Given the description of an element on the screen output the (x, y) to click on. 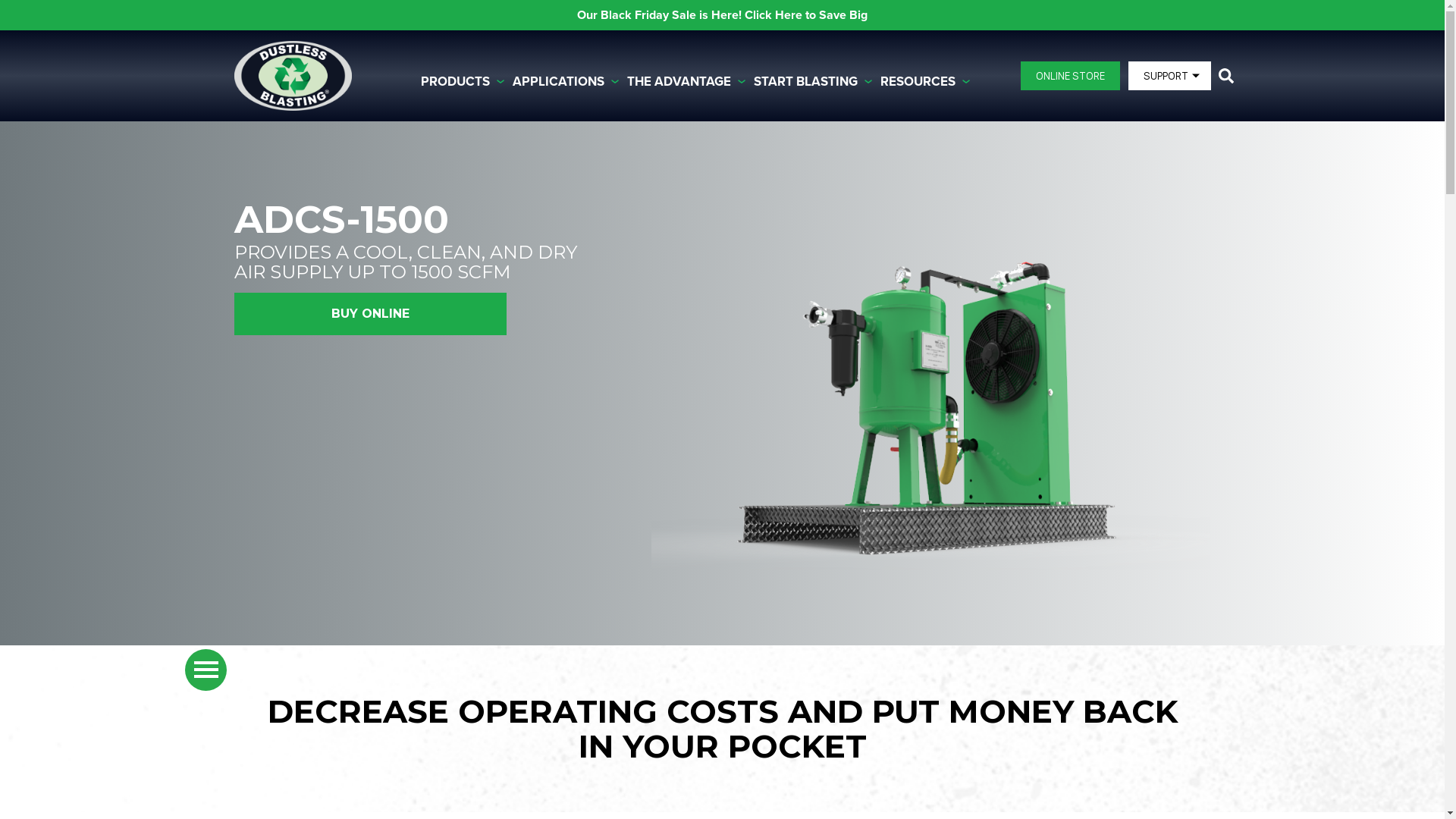
PRODUCTS Element type: text (465, 82)
START BLASTING Element type: text (816, 82)
THE ADVANTAGE Element type: text (689, 82)
Our Black Friday Sale is Here! Click Here to Save Big Element type: text (722, 14)
BUY ONLINE Element type: text (369, 313)
APPLICATIONS Element type: text (569, 82)
ONLINE STORE Element type: text (1070, 75)
RESOURCES Element type: text (928, 82)
